Given the description of an element on the screen output the (x, y) to click on. 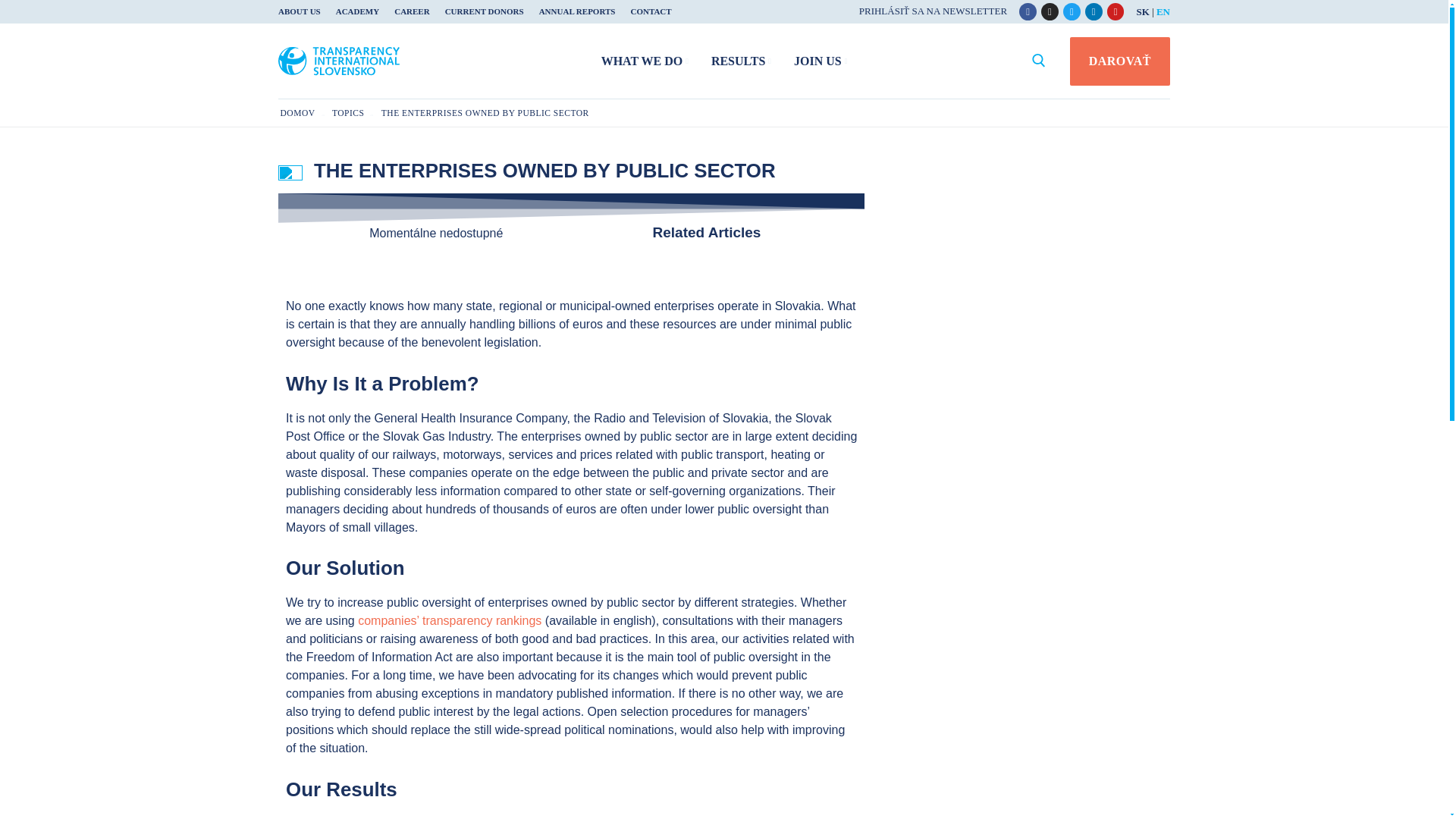
Facebook (1027, 11)
Topics. (347, 112)
Youtube (1115, 11)
Twitter (1072, 11)
ACADEMY (358, 11)
SK (1141, 11)
CONTACT (647, 11)
Instagram (1049, 11)
CURRENT DONORS (484, 11)
ANNUAL REPORTS (577, 11)
